Given the description of an element on the screen output the (x, y) to click on. 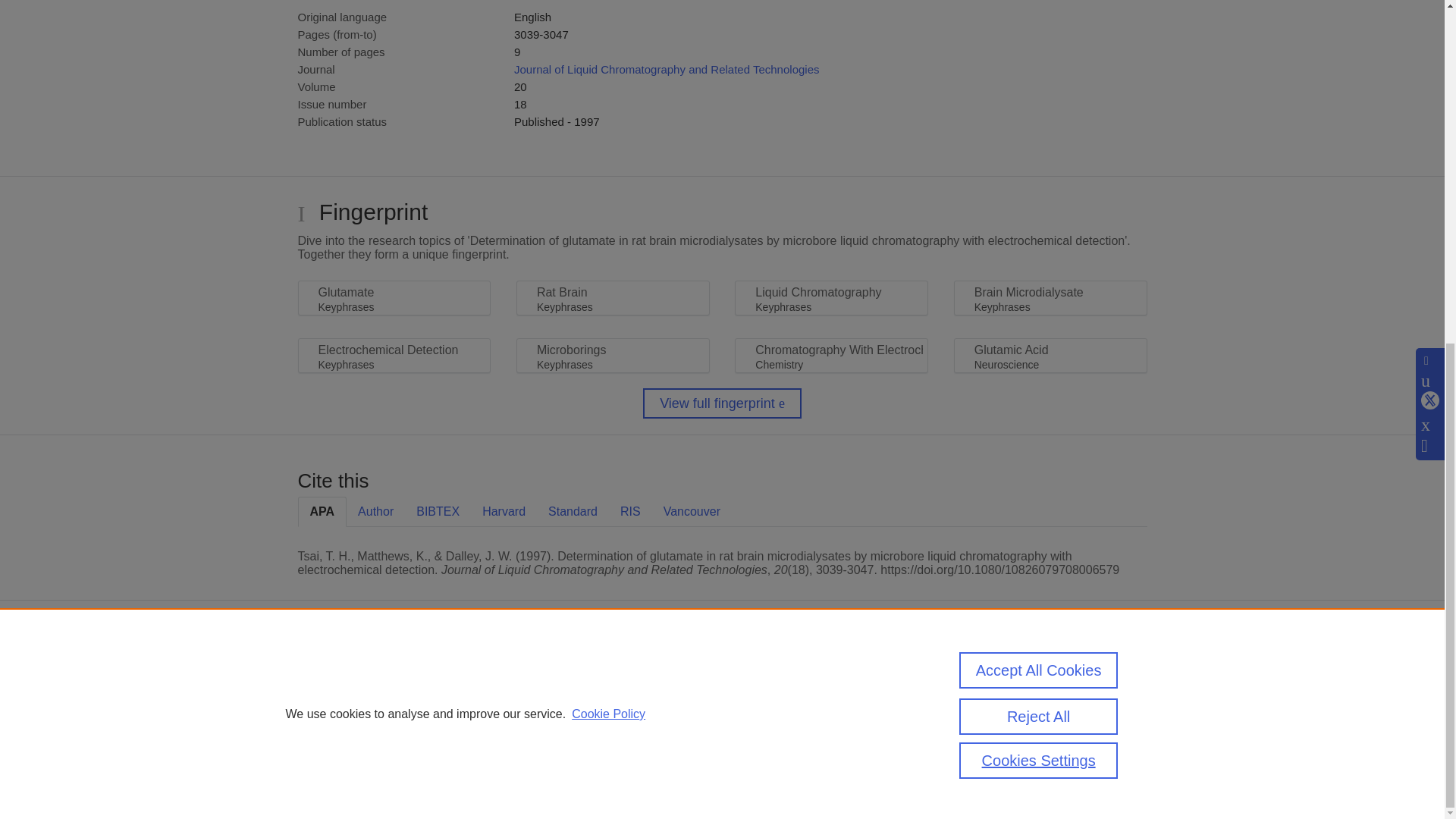
Pure (362, 675)
Journal of Liquid Chromatography and Related Technologies (666, 69)
View full fingerprint (722, 403)
Scopus (394, 675)
